Given the description of an element on the screen output the (x, y) to click on. 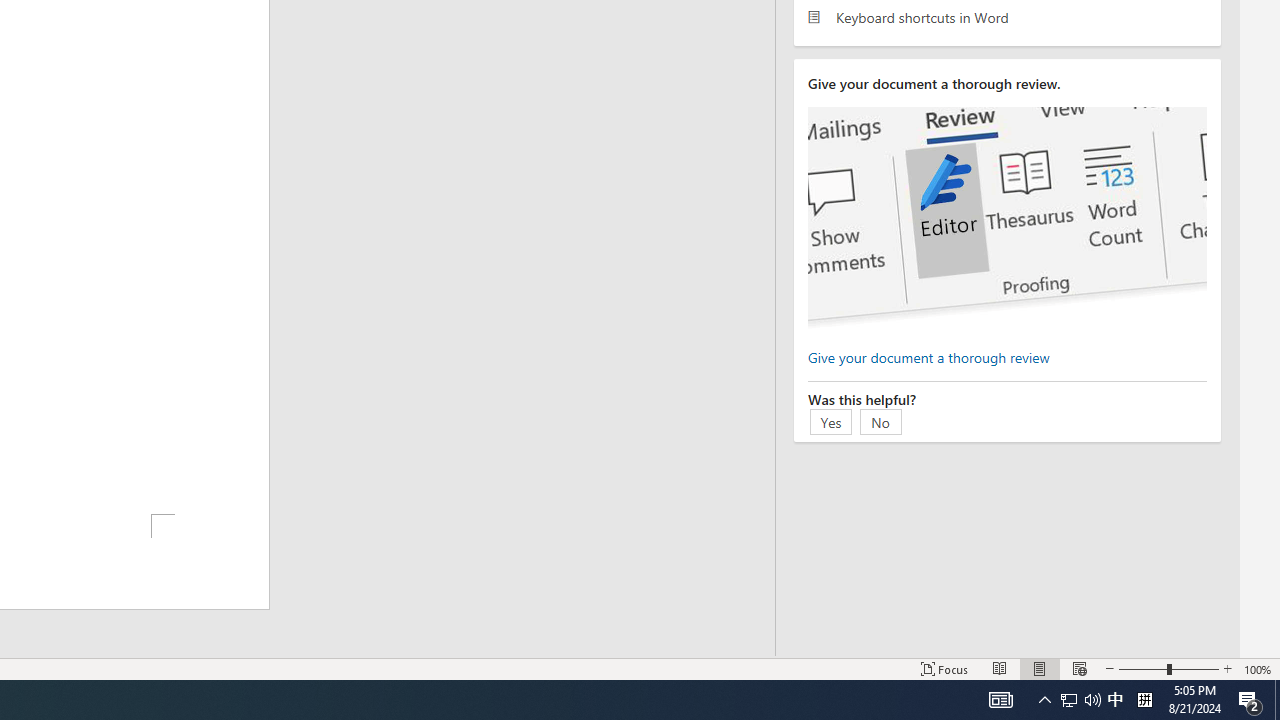
Zoom Out (1142, 668)
Zoom 100% (1258, 668)
Web Layout (1079, 668)
Focus  (944, 668)
No (881, 421)
Yes (831, 421)
Read Mode (1000, 668)
Print Layout (1039, 668)
Keyboard shortcuts in Word (1007, 16)
Give your document a thorough review (928, 356)
Zoom (1168, 668)
Zoom In (1227, 668)
editor ui screenshot (1007, 218)
